Given the description of an element on the screen output the (x, y) to click on. 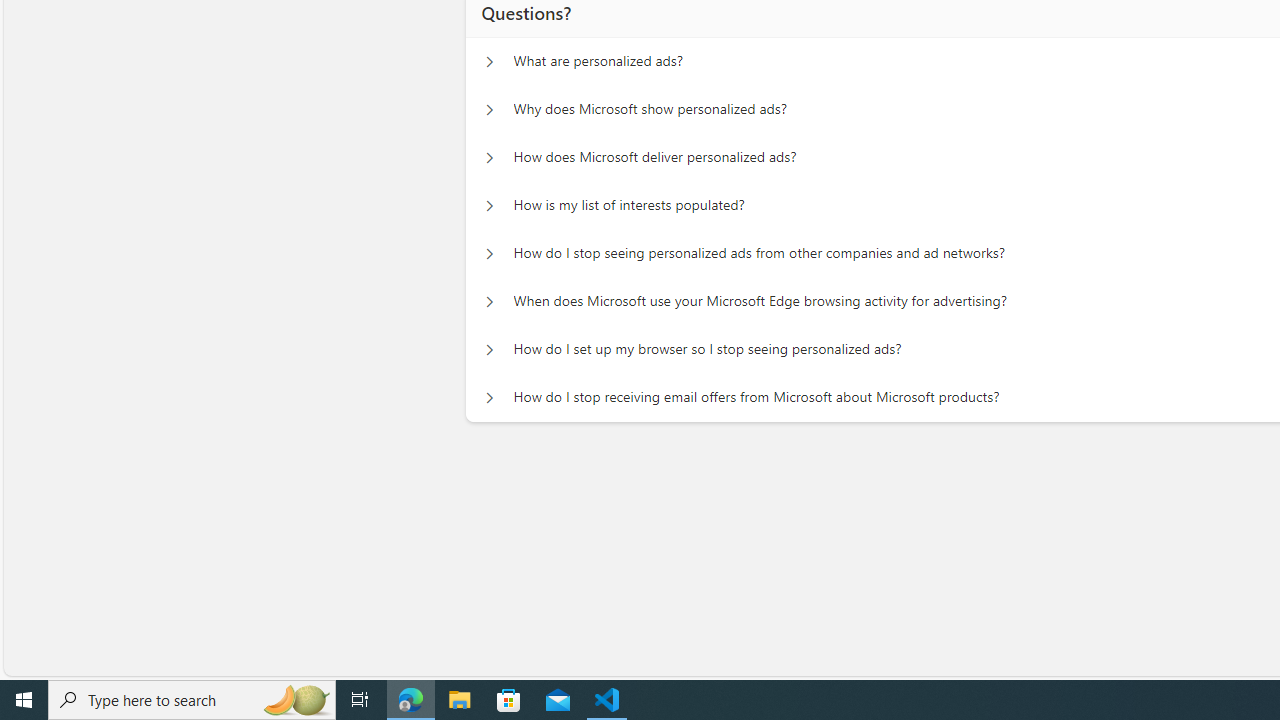
Questions? How is my list of interests populated? (489, 206)
Questions? How does Microsoft deliver personalized ads? (489, 157)
Questions? What are personalized ads? (489, 62)
Questions? Why does Microsoft show personalized ads? (489, 110)
